Given the description of an element on the screen output the (x, y) to click on. 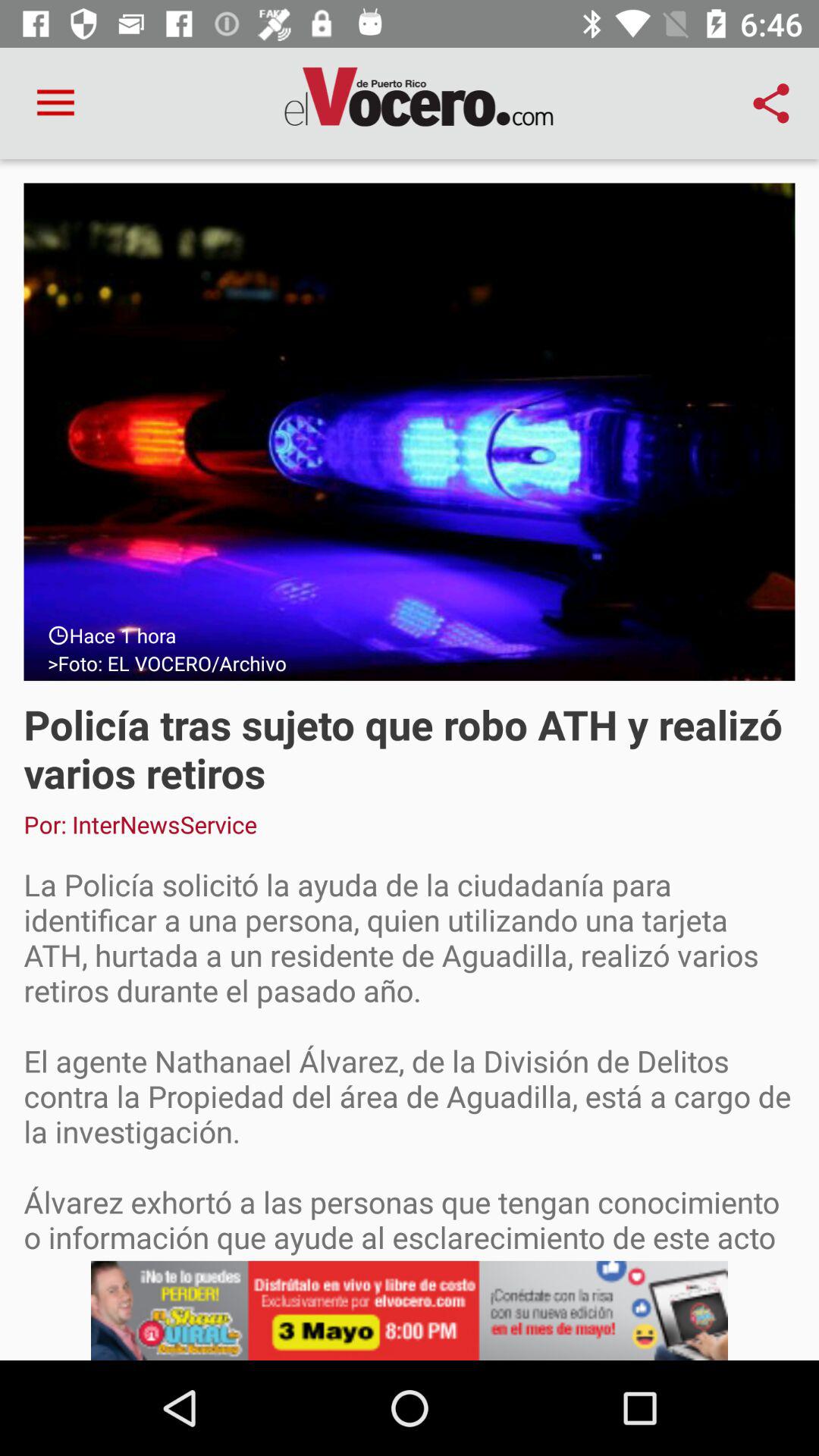
go to add (409, 1310)
